Given the description of an element on the screen output the (x, y) to click on. 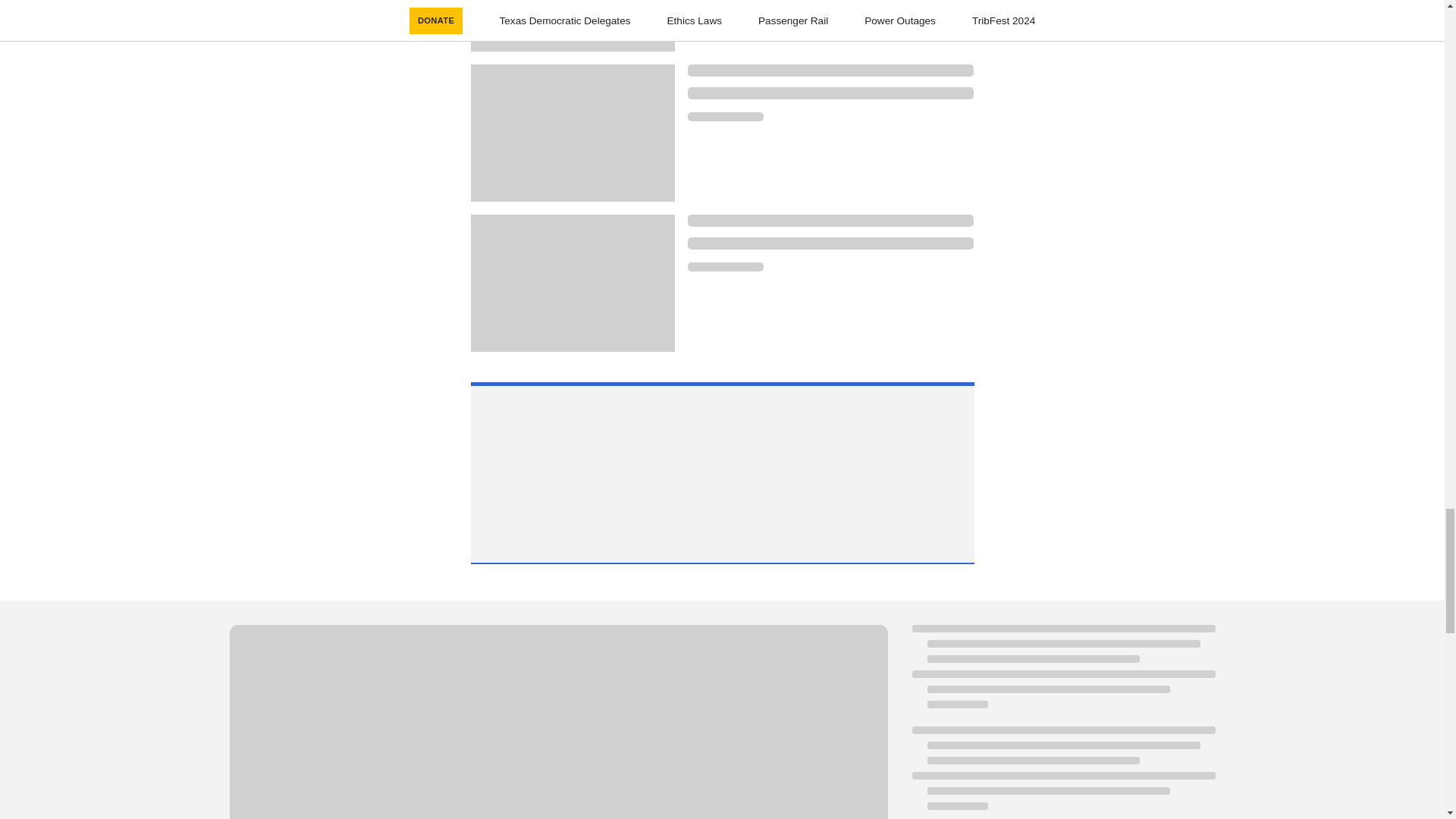
Loading indicator (724, 116)
Loading indicator (830, 92)
Loading indicator (830, 243)
Loading indicator (724, 266)
Loading indicator (557, 721)
Loading indicator (830, 70)
Loading indicator (830, 220)
